Given the description of an element on the screen output the (x, y) to click on. 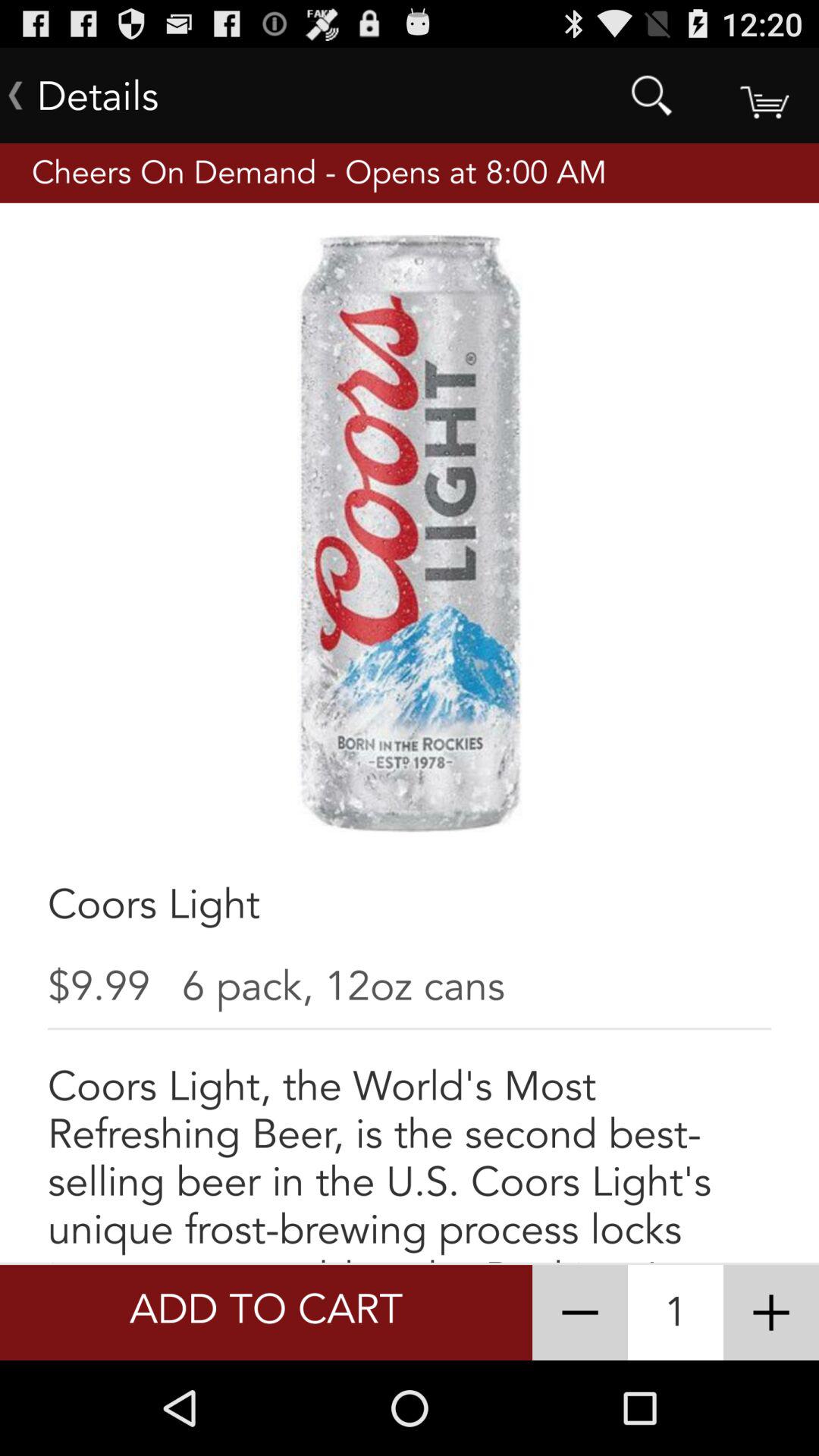
turn on the item above the cheers on demand (651, 95)
